Given the description of an element on the screen output the (x, y) to click on. 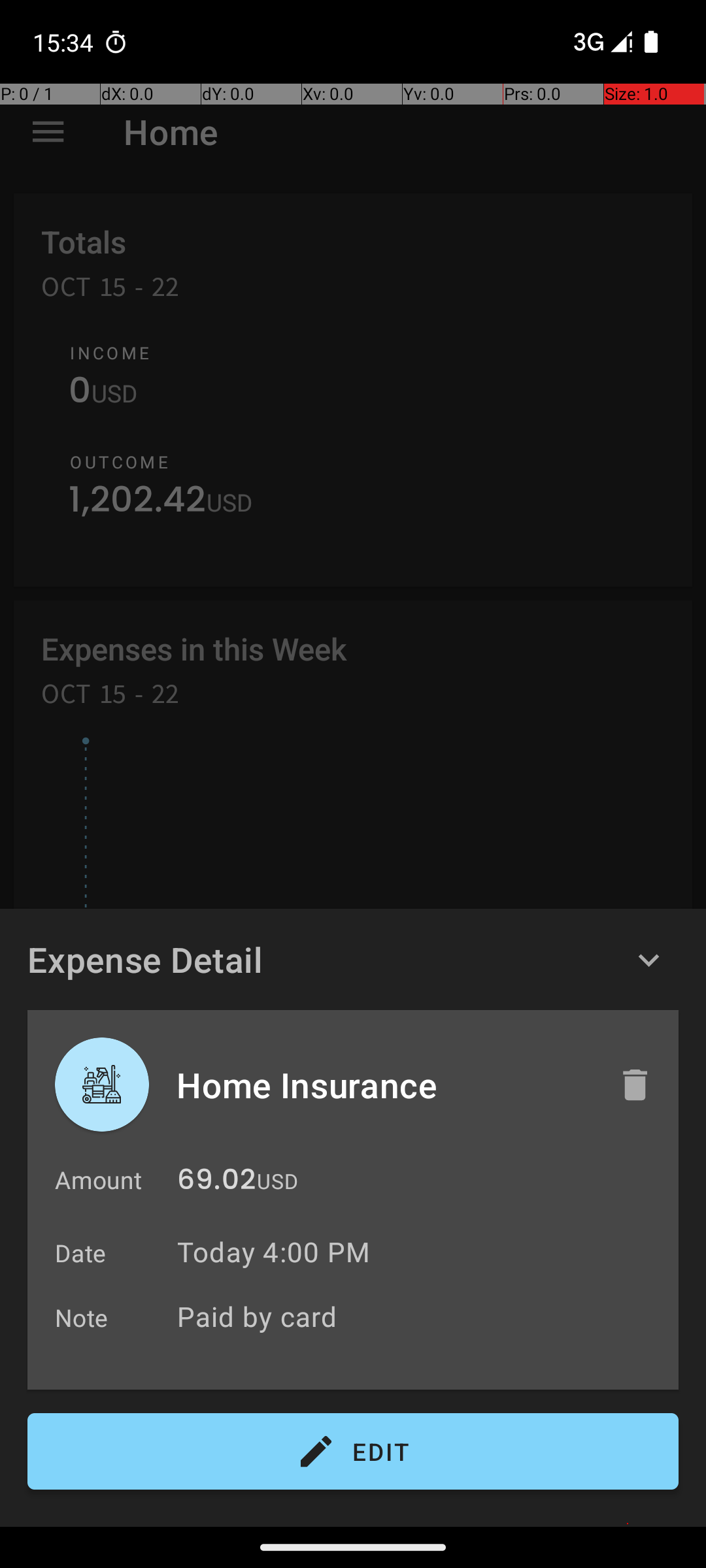
Home Insurance Element type: android.widget.TextView (383, 1084)
69.02 Element type: android.widget.TextView (216, 1182)
Today 4:00 PM Element type: android.widget.TextView (273, 1251)
